Given the description of an element on the screen output the (x, y) to click on. 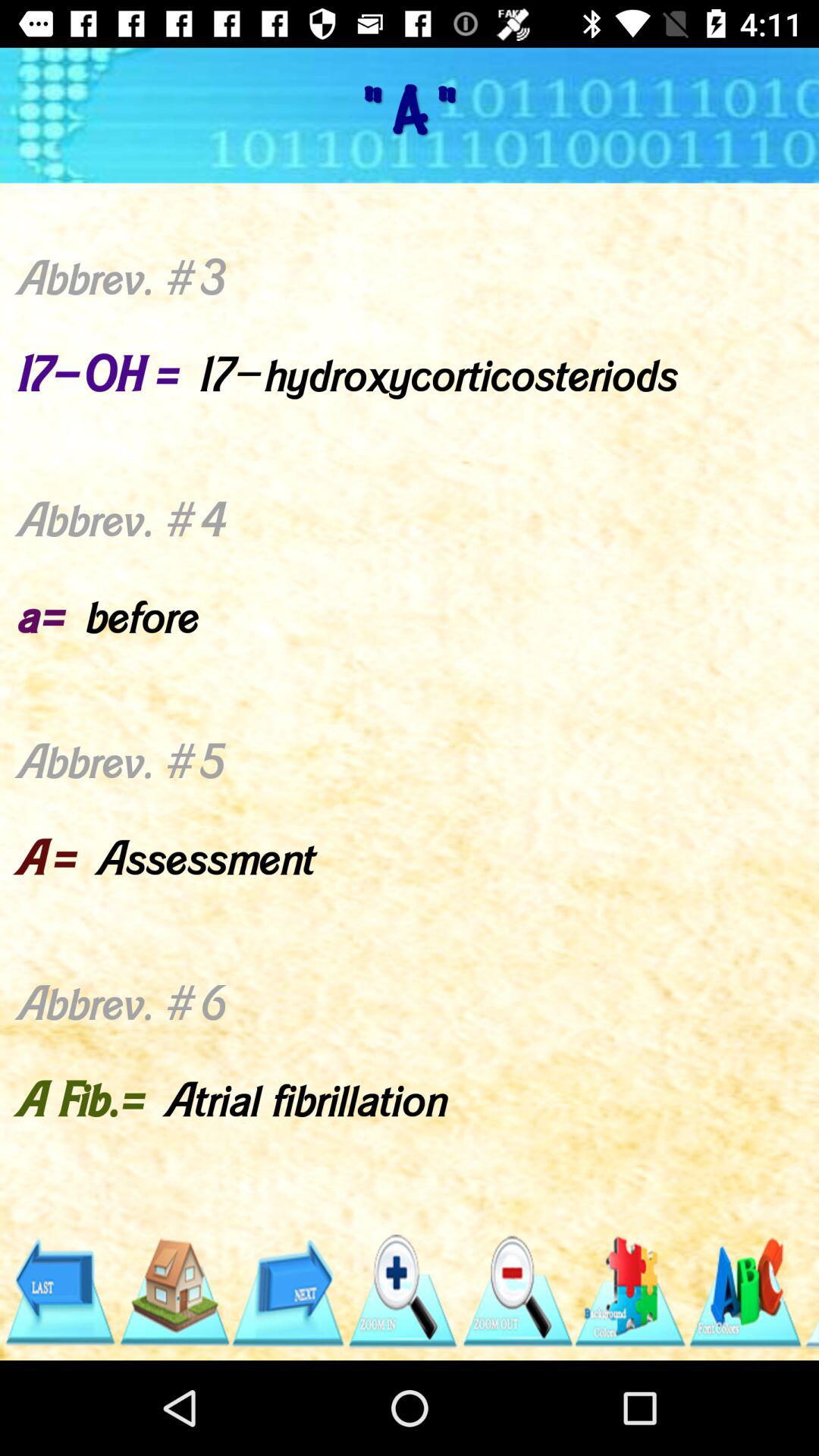
make a search (402, 1291)
